Given the description of an element on the screen output the (x, y) to click on. 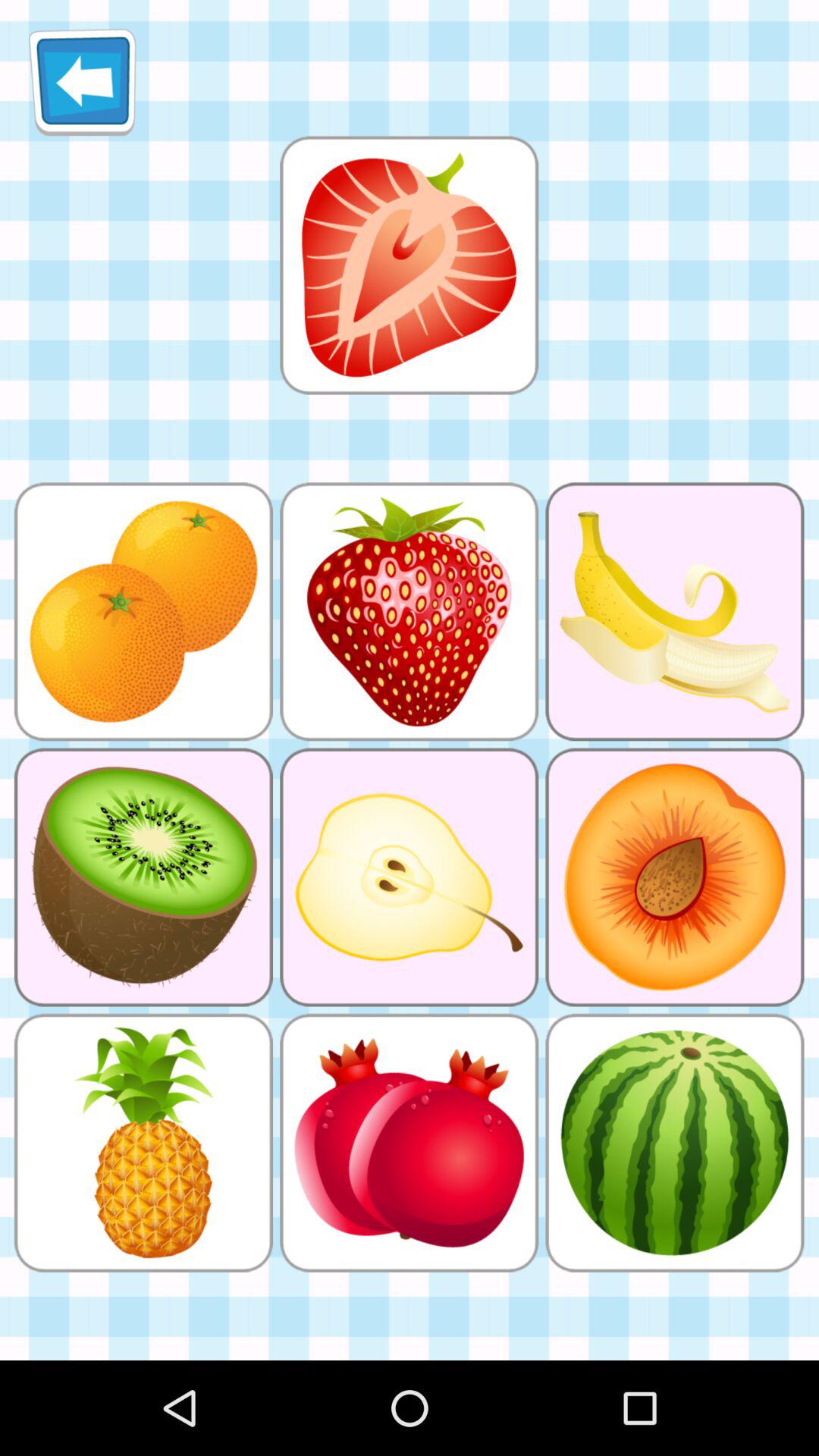
open item (409, 265)
